Given the description of an element on the screen output the (x, y) to click on. 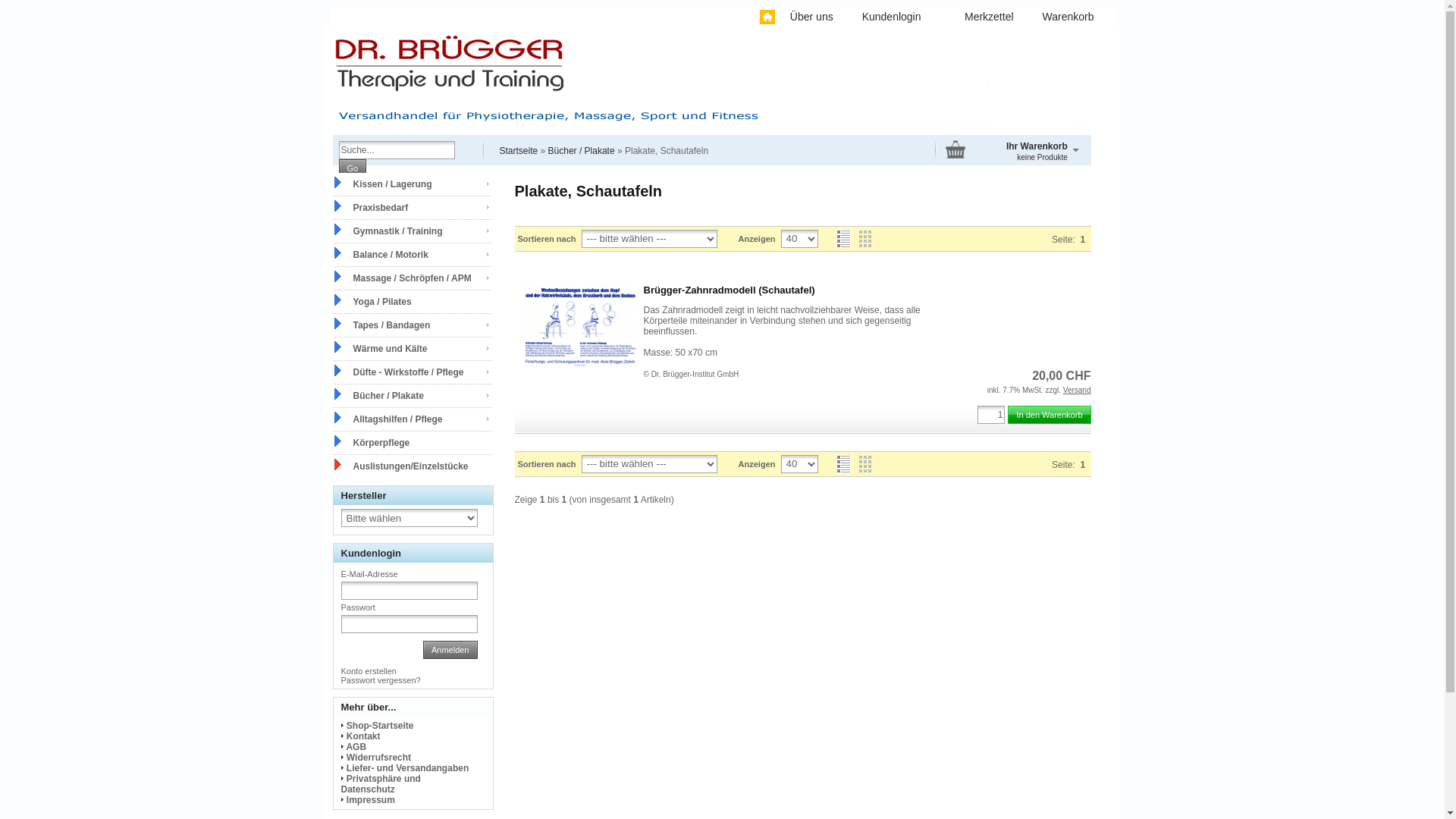
Startseite Element type: text (518, 150)
Konto erstellen Element type: text (368, 670)
In den Warenkorb Element type: text (1048, 414)
Kundenlogin      Element type: text (897, 17)
Impressum Element type: text (370, 799)
     Element type: text (754, 17)
Shop-Startseite Element type: text (380, 725)
Gymnastik / Training Element type: text (411, 230)
Versand Element type: text (1077, 389)
Yoga / Pilates Element type: text (411, 301)
Liefer- und Versandangaben Element type: text (407, 767)
AGB Element type: text (355, 746)
20,00 CHF Element type: text (1061, 375)
Kissen / Lagerung Element type: text (411, 183)
Praxisbedarf Element type: text (411, 207)
Startseite anzeigen Element type: hover (767, 16)
Tapes / Bandagen Element type: text (411, 324)
Passwort vergessen? Element type: text (380, 679)
Warenkorb Element type: text (1067, 17)
Startseite anzeigen Element type: hover (761, 16)
Merkzettel Element type: text (988, 17)
Widerrufsrecht Element type: text (378, 757)
Anmelden Element type: text (450, 649)
bruegger-shop Element type: hover (711, 83)
Balance / Motorik Element type: text (411, 254)
Alltagshilfen / Pflege Element type: text (411, 418)
Kontakt Element type: text (363, 736)
Go Element type: text (352, 168)
